Given the description of an element on the screen output the (x, y) to click on. 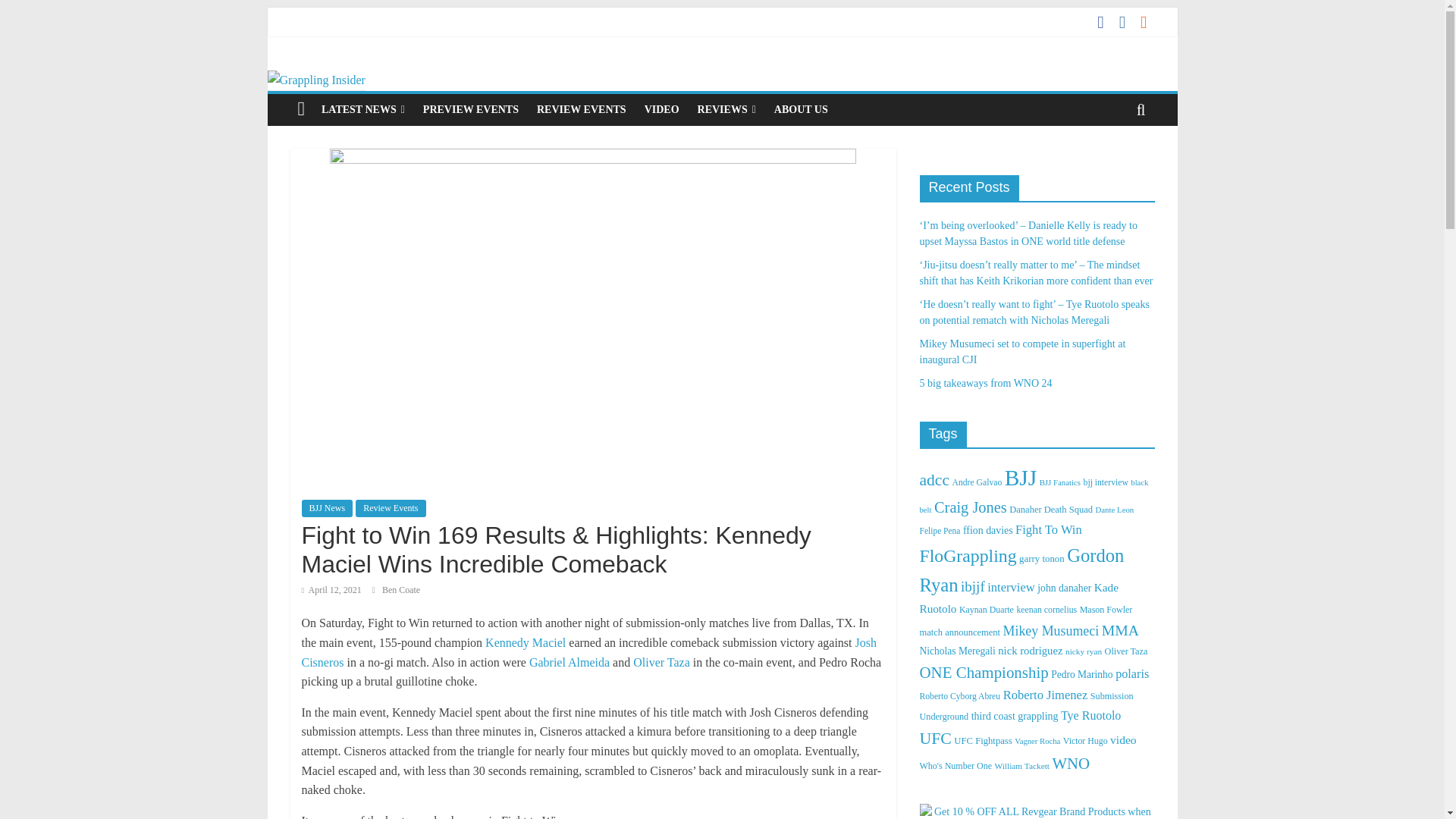
REVIEWS (726, 110)
Oliver Taza (663, 662)
Grappling Insider (315, 79)
REVIEW EVENTS (580, 110)
Ben Coate (400, 589)
LATEST NEWS (363, 110)
Review Events (390, 507)
Kennedy Maciel (525, 642)
VIDEO (661, 110)
